Given the description of an element on the screen output the (x, y) to click on. 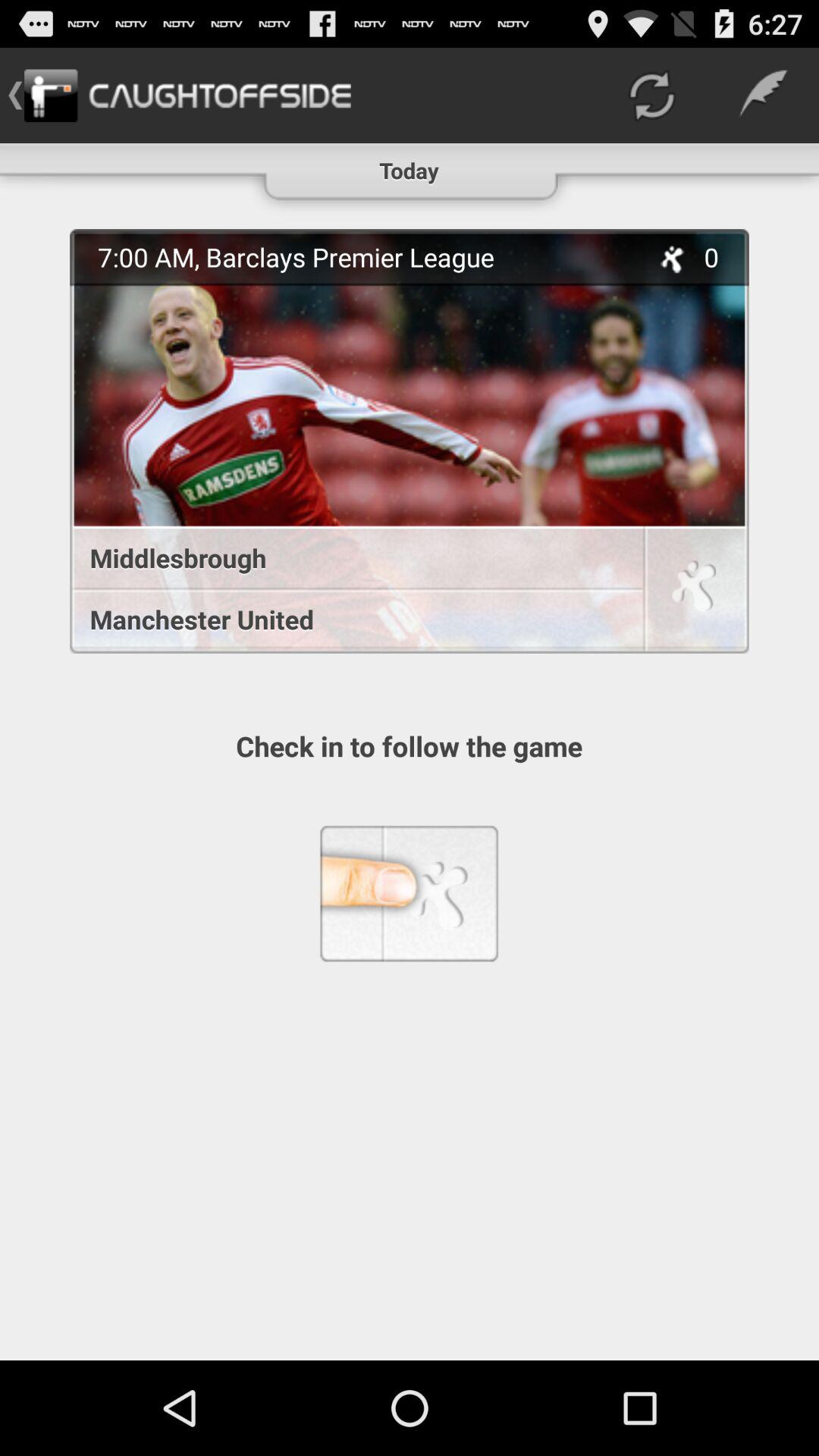
launch icon below 7 00 am icon (348, 557)
